Given the description of an element on the screen output the (x, y) to click on. 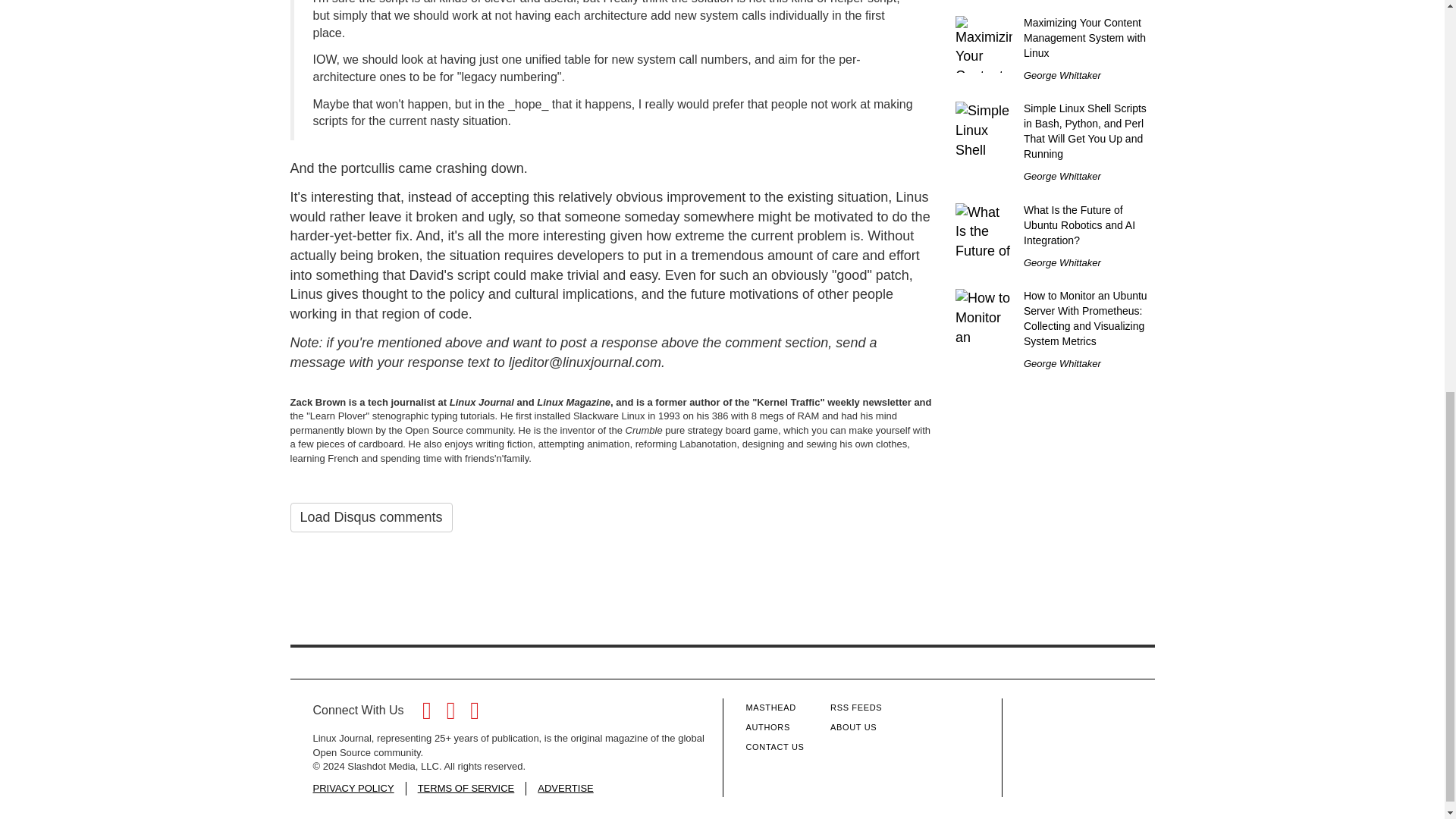
George Whittaker (1061, 75)
Load Disqus comments (370, 517)
George Whittaker (1061, 175)
Maximizing Your Content Management System with Linux (1084, 37)
